Given the description of an element on the screen output the (x, y) to click on. 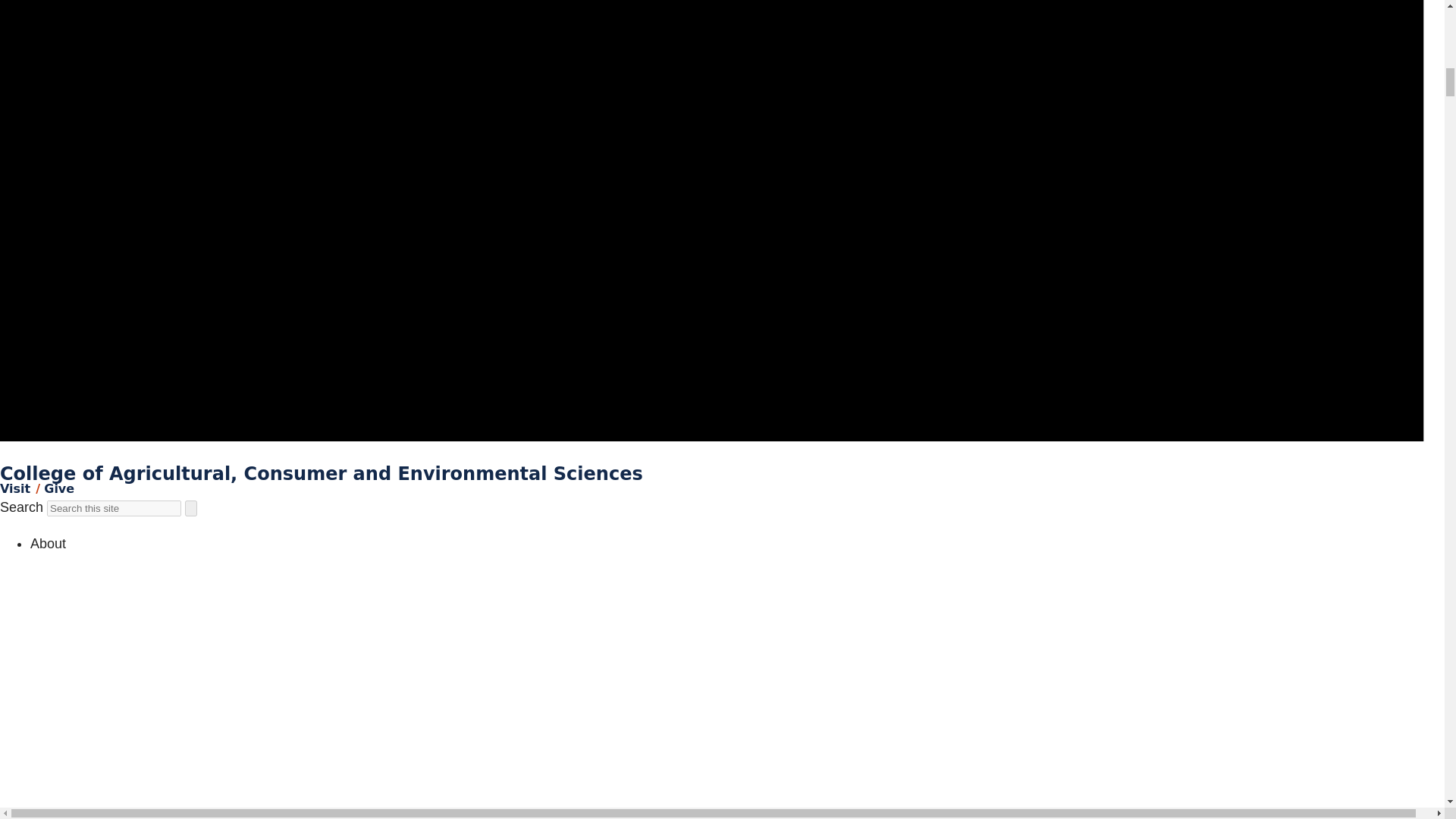
About (47, 543)
Give (58, 488)
College of Agricultural, Consumer and Environmental Sciences (321, 473)
Visit (15, 488)
